Given the description of an element on the screen output the (x, y) to click on. 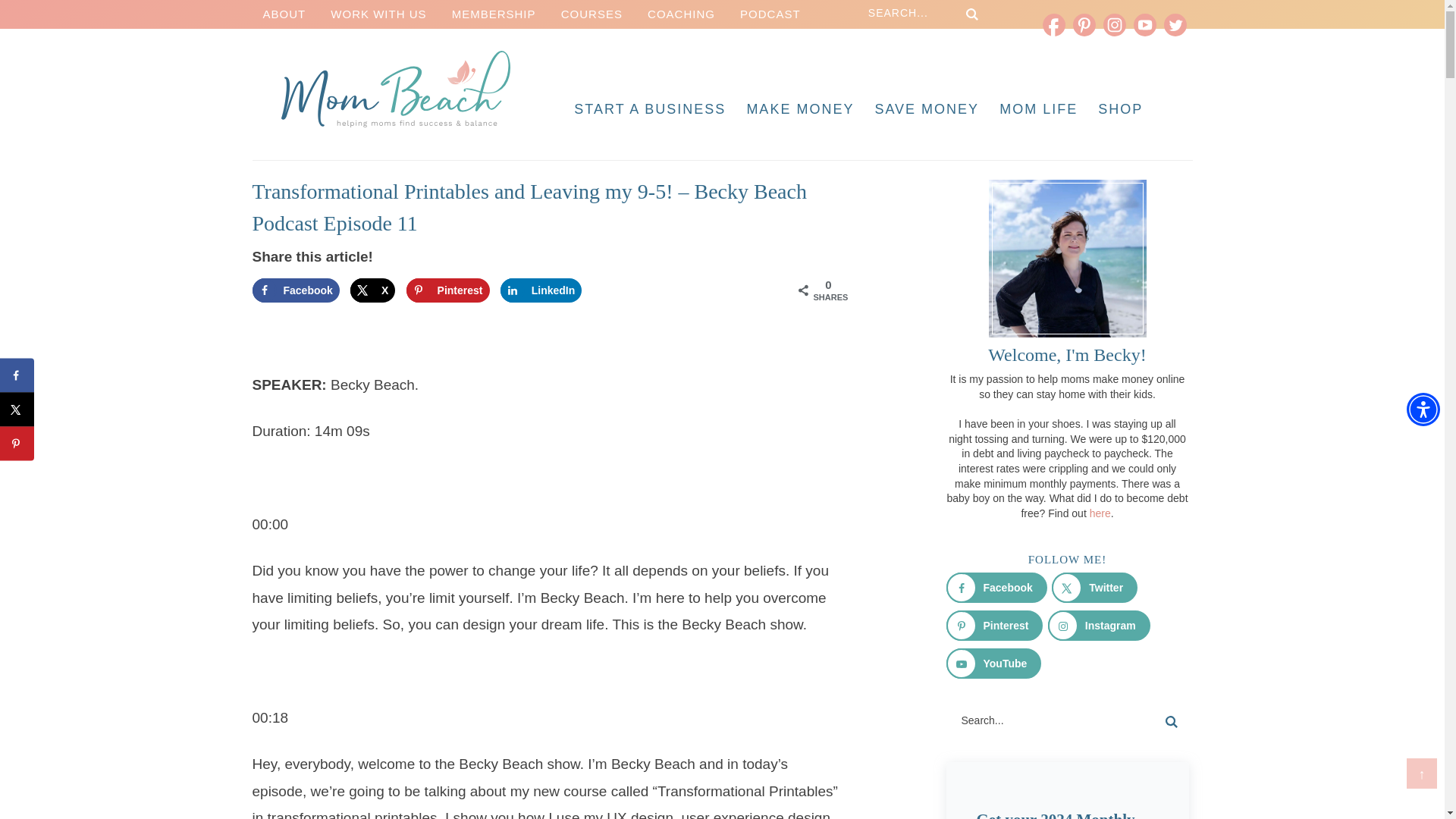
Accessibility Menu (1422, 409)
Follow on Facebook (996, 587)
Save to Pinterest (447, 290)
Share on Facebook (295, 290)
Follow on YouTube (994, 663)
Follow on X (1094, 587)
Share on LinkedIn (541, 290)
Follow on Instagram (1099, 625)
Share on X (372, 290)
Follow on Pinterest (994, 625)
